Given the description of an element on the screen output the (x, y) to click on. 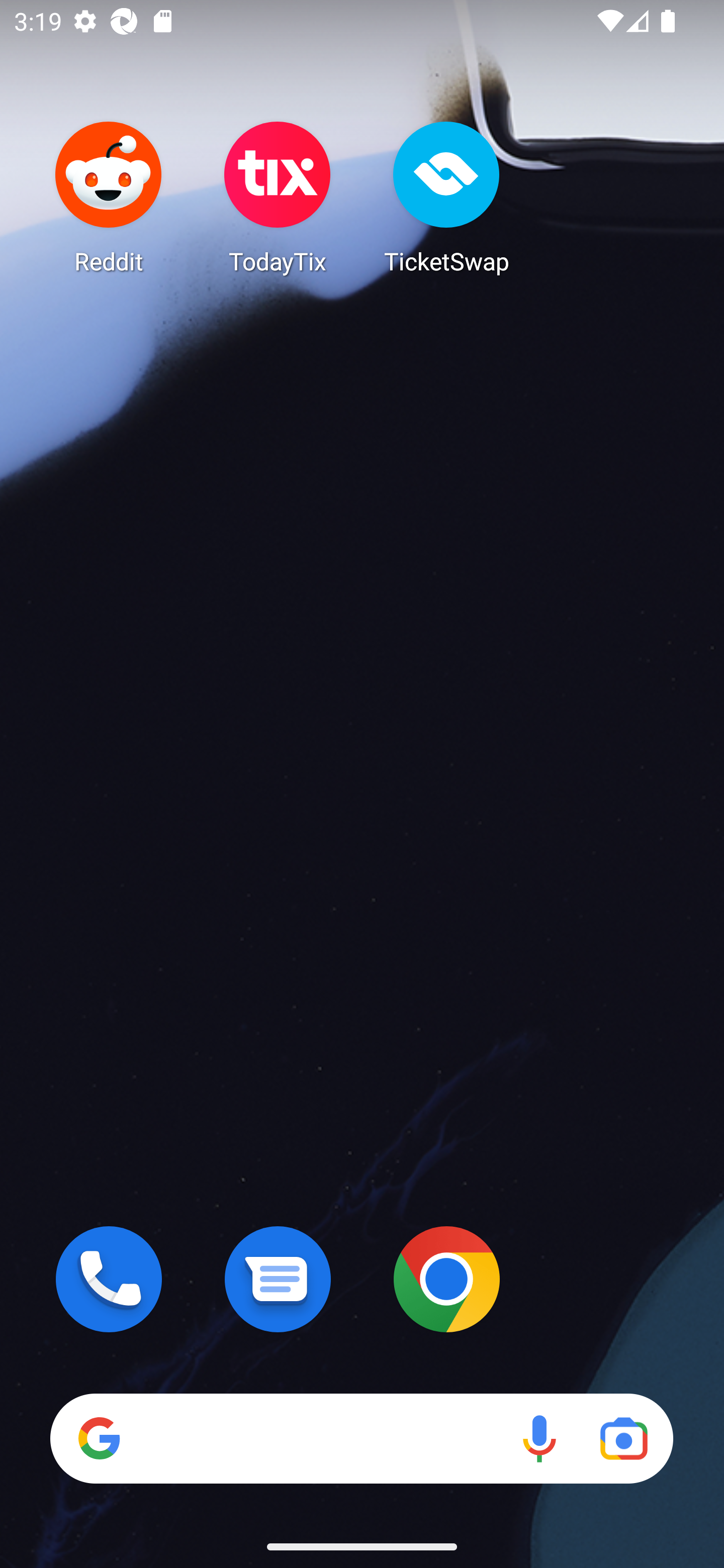
Reddit (108, 196)
TodayTix (277, 196)
TicketSwap (445, 196)
Phone (108, 1279)
Messages (277, 1279)
Chrome (446, 1279)
Voice search (539, 1438)
Google Lens (623, 1438)
